Given the description of an element on the screen output the (x, y) to click on. 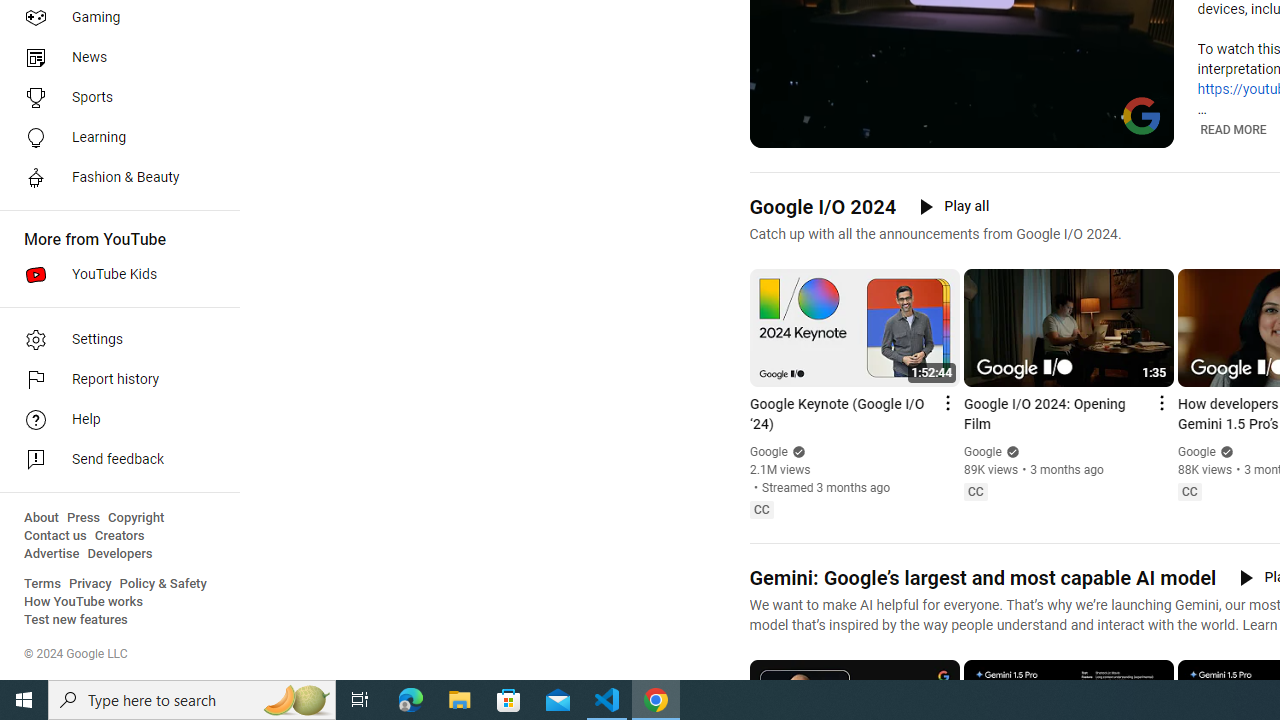
Policy & Safety (163, 584)
News (113, 57)
Play all (954, 206)
Learning (113, 137)
Press (83, 518)
Send feedback (113, 459)
Test new features (76, 620)
Closed captions (1189, 492)
Google I/O 2024 (822, 206)
